Given the description of an element on the screen output the (x, y) to click on. 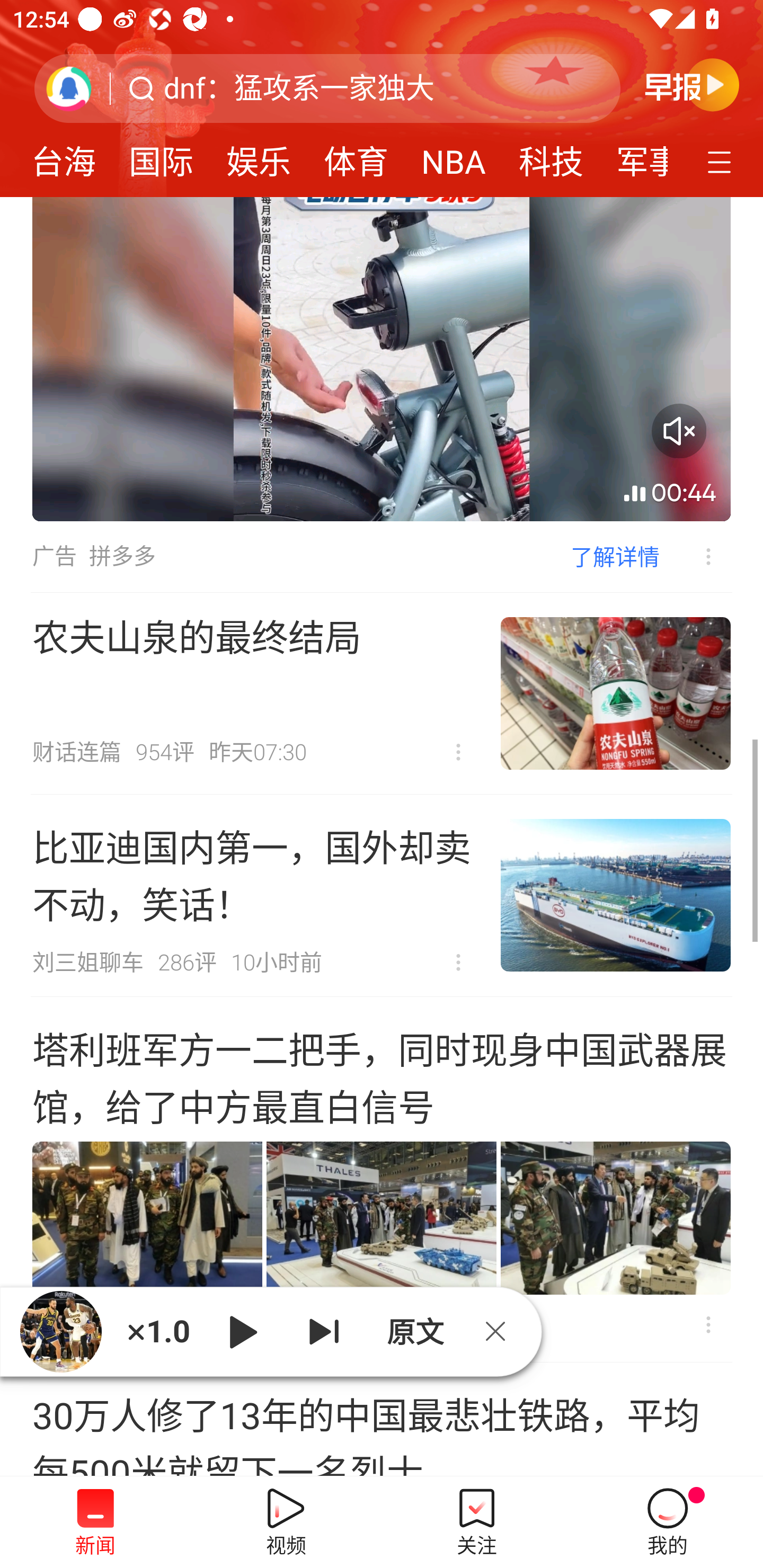
早晚报 (691, 84)
刷新 (68, 88)
dnf：猛攻系一家独大 (299, 88)
台海 (64, 155)
国际 (160, 155)
娱乐 (258, 155)
体育 (356, 155)
NBA (453, 155)
科技 (550, 155)
军事 (633, 155)
 定制频道 (721, 160)
00:44 音量开关 (381, 358)
音量开关 (678, 429)
 不感兴趣 (694, 556)
了解详情 (614, 556)
广告 (54, 556)
拼多多 (122, 556)
农夫山泉的最终结局 财话连篇 954评 昨天07:30  不感兴趣 (381, 692)
 不感兴趣 (458, 752)
比亚迪国内第一，国外却卖不动，笑话！ 刘三姐聊车 286评 10小时前  不感兴趣 (381, 894)
 不感兴趣 (458, 962)
 播放 (242, 1330)
 下一个 (323, 1330)
 关闭 (501, 1330)
播放器 (60, 1331)
原文 (413, 1331)
 1.0 (157, 1330)
 不感兴趣 (707, 1324)
